Given the description of an element on the screen output the (x, y) to click on. 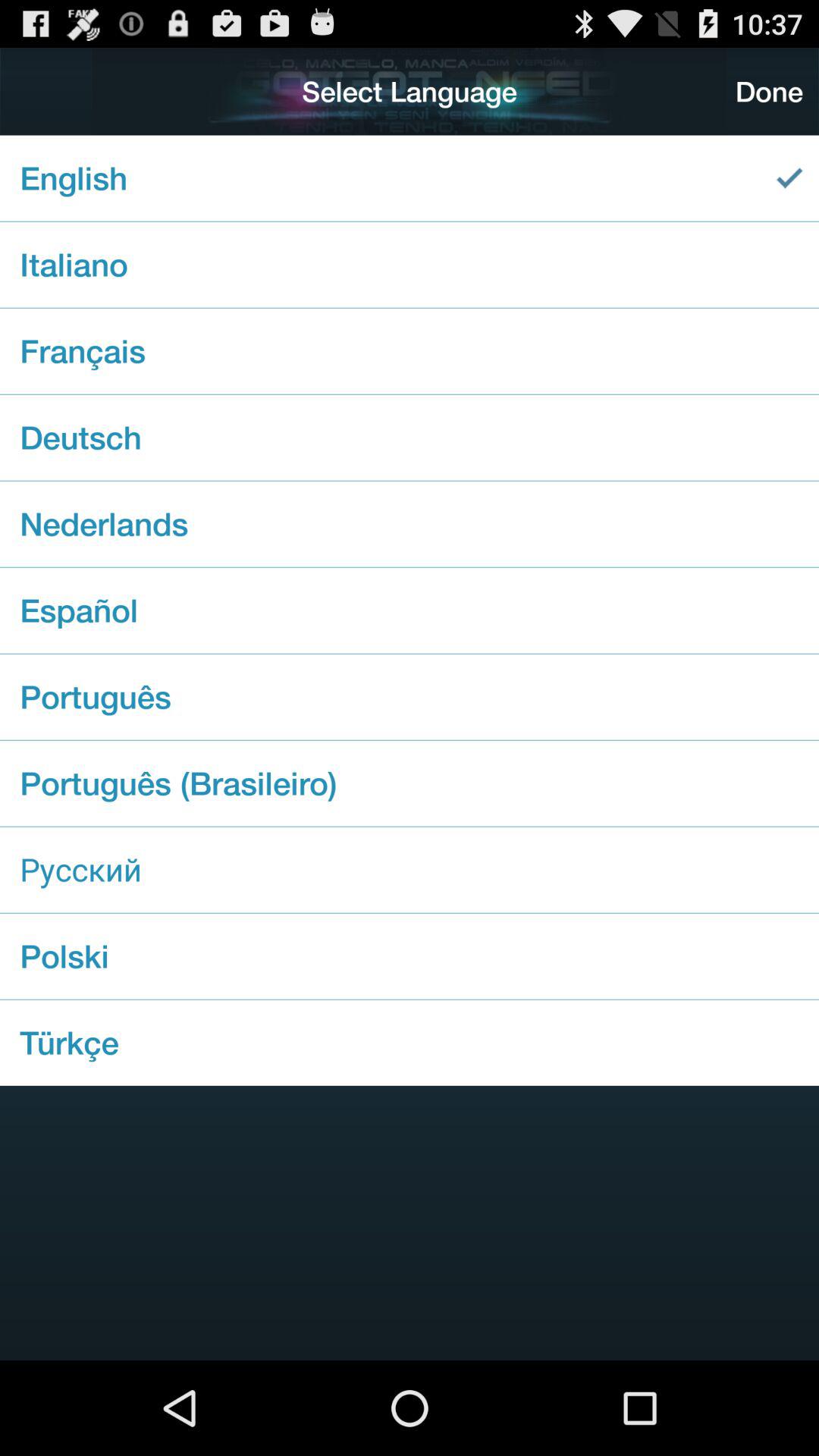
tap the polski icon (409, 956)
